Given the description of an element on the screen output the (x, y) to click on. 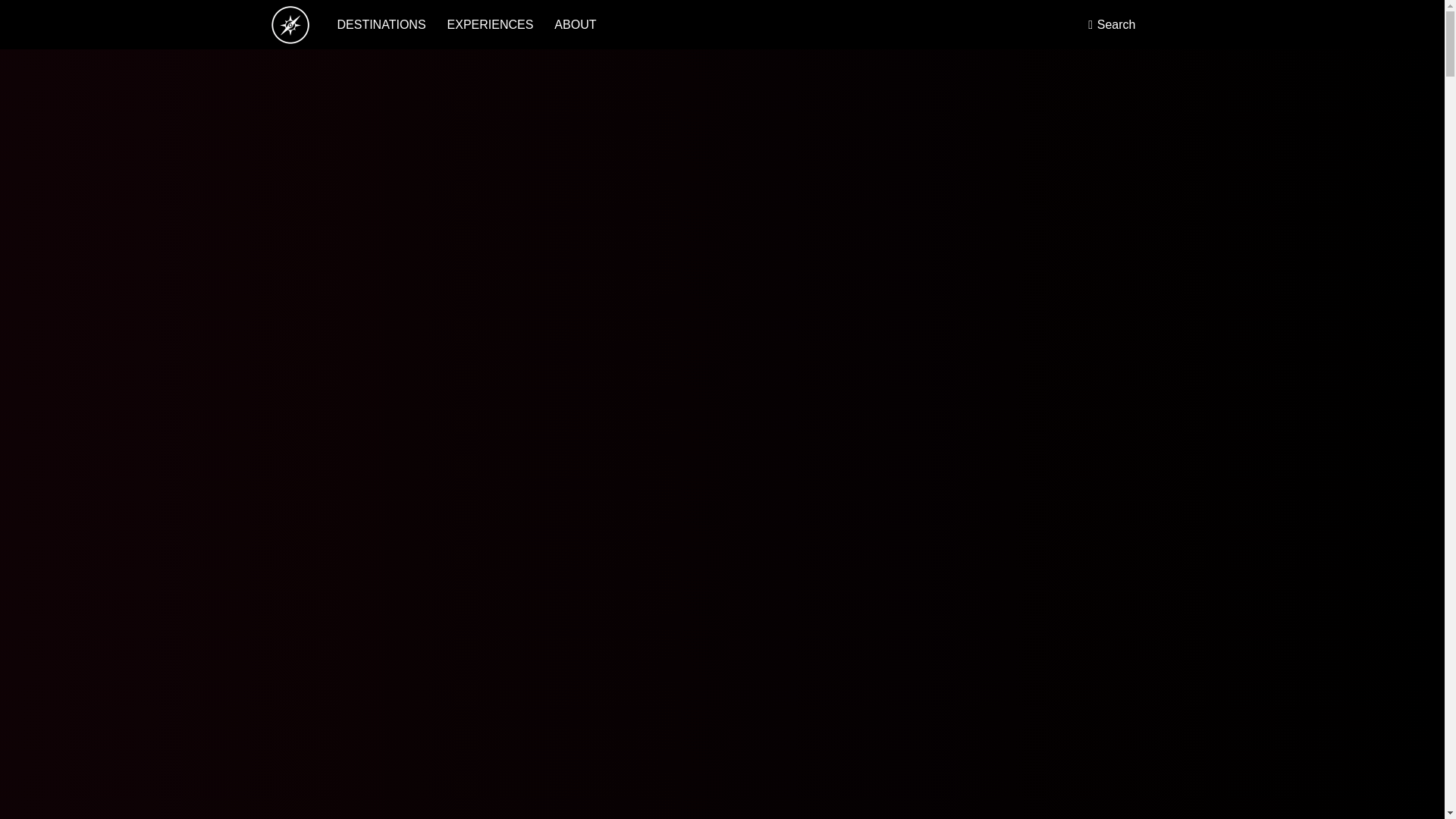
EXPERIENCES (490, 24)
ABOUT (574, 24)
DESTINATIONS (380, 24)
Search (1111, 23)
